Given the description of an element on the screen output the (x, y) to click on. 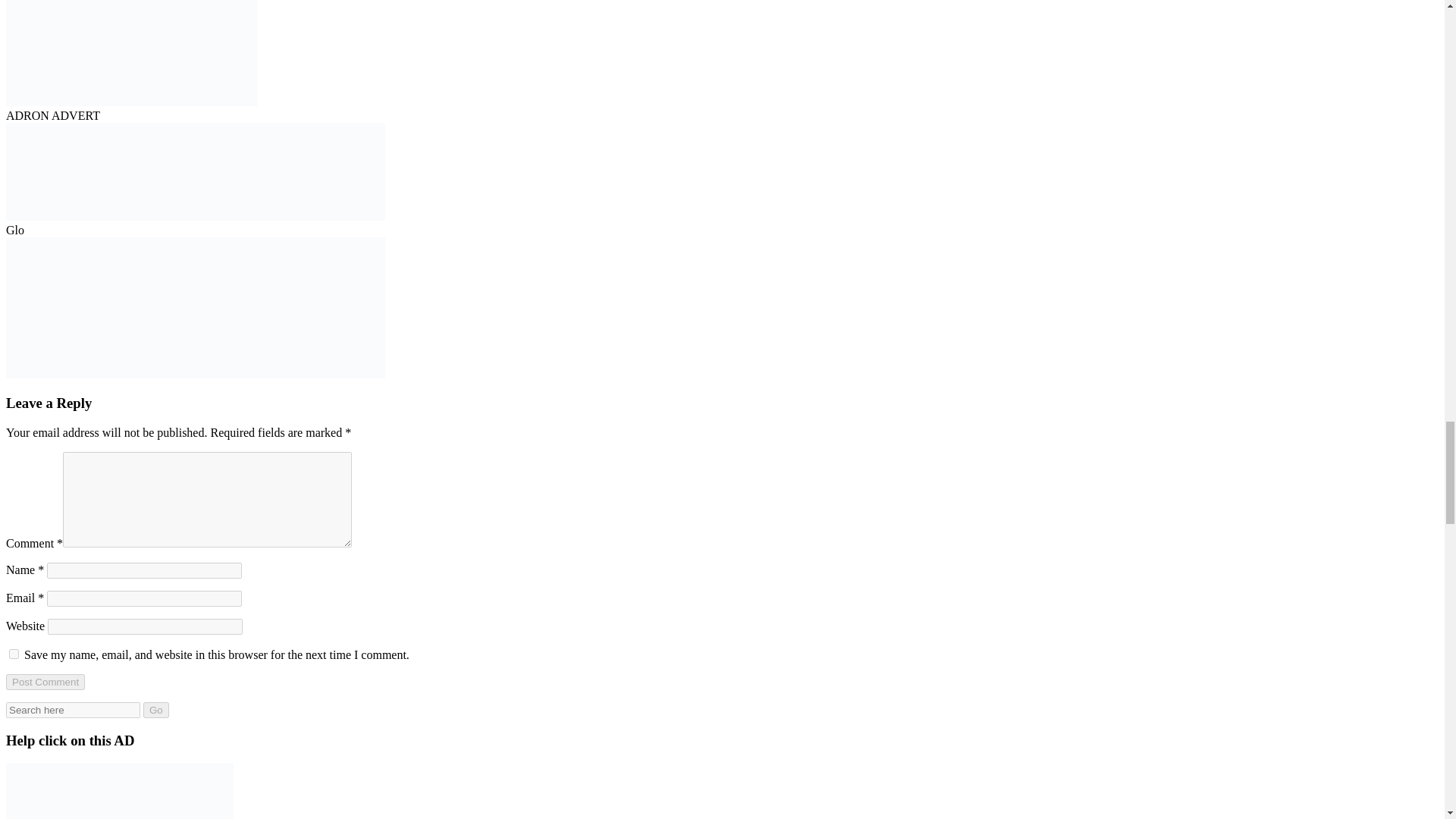
yes (13, 654)
Post Comment (44, 682)
Go (155, 709)
